Given the description of an element on the screen output the (x, y) to click on. 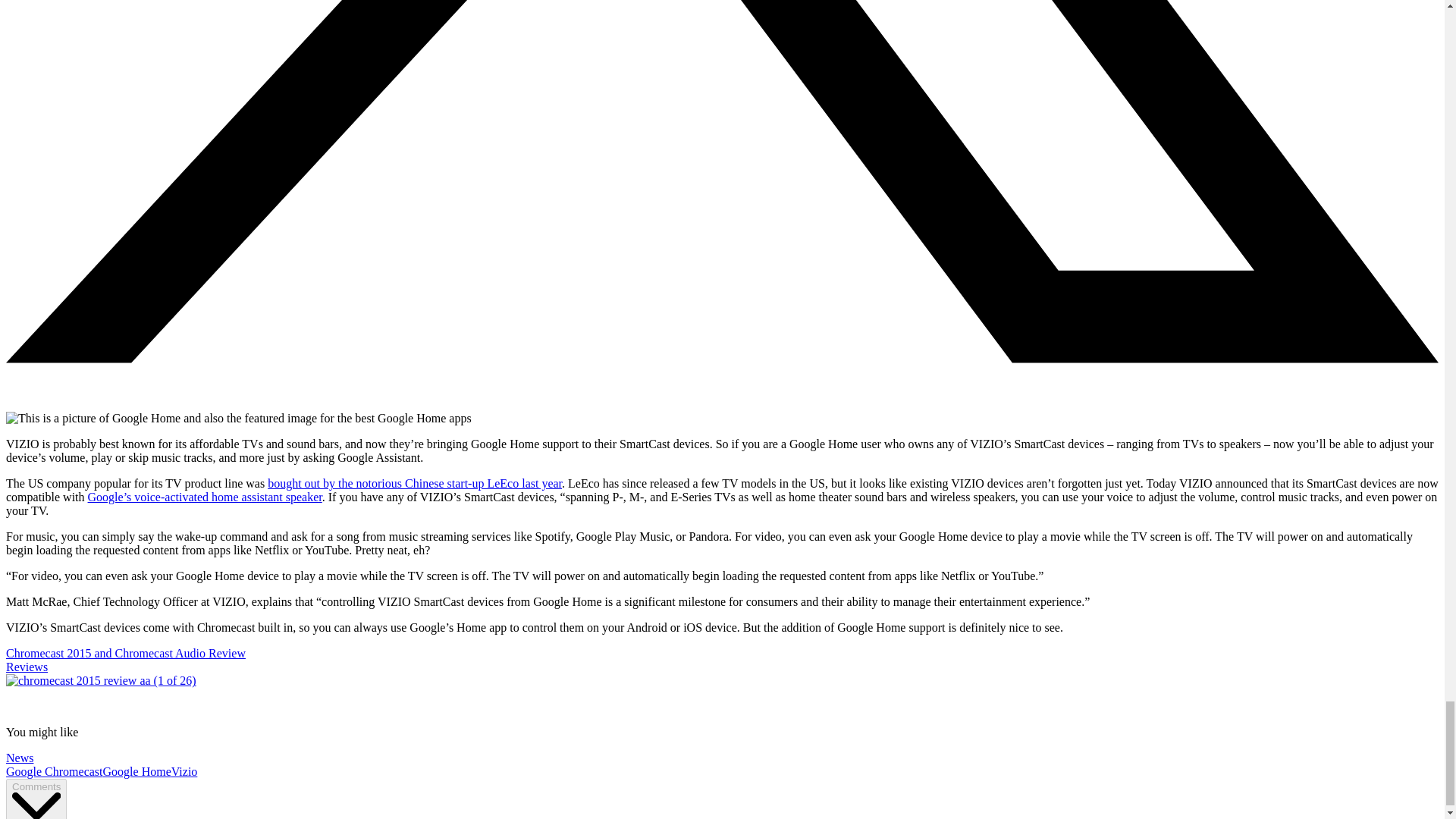
News (19, 757)
Google Home (137, 771)
Vizio (184, 771)
google-home-review-15-of-15 (238, 418)
Google Chromecast (54, 771)
bought out by the notorious Chinese start-up LeEco last year (414, 482)
